Given the description of an element on the screen output the (x, y) to click on. 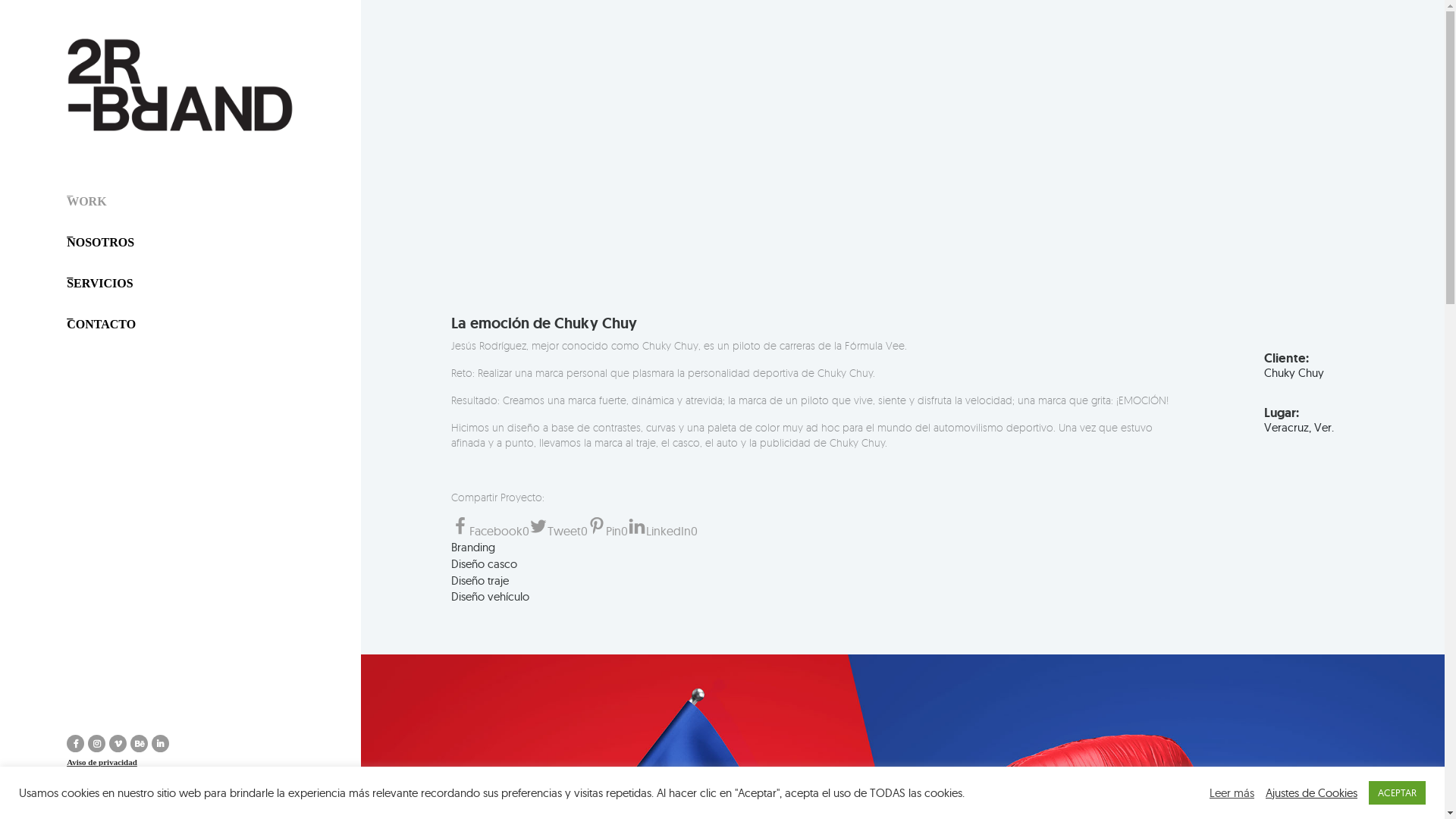
Pin0 Element type: text (607, 530)
SERVICIOS Element type: text (99, 282)
Tweet0 Element type: text (558, 530)
ACEPTAR Element type: text (1396, 792)
Ajustes de Cookies Element type: text (1311, 792)
WORK Element type: text (86, 200)
LinkedIn0 Element type: text (662, 530)
NOSOTROS Element type: text (100, 241)
Aviso de privacidad Element type: text (162, 762)
CONTACTO Element type: text (100, 323)
Facebook0 Element type: text (490, 530)
